Given the description of an element on the screen output the (x, y) to click on. 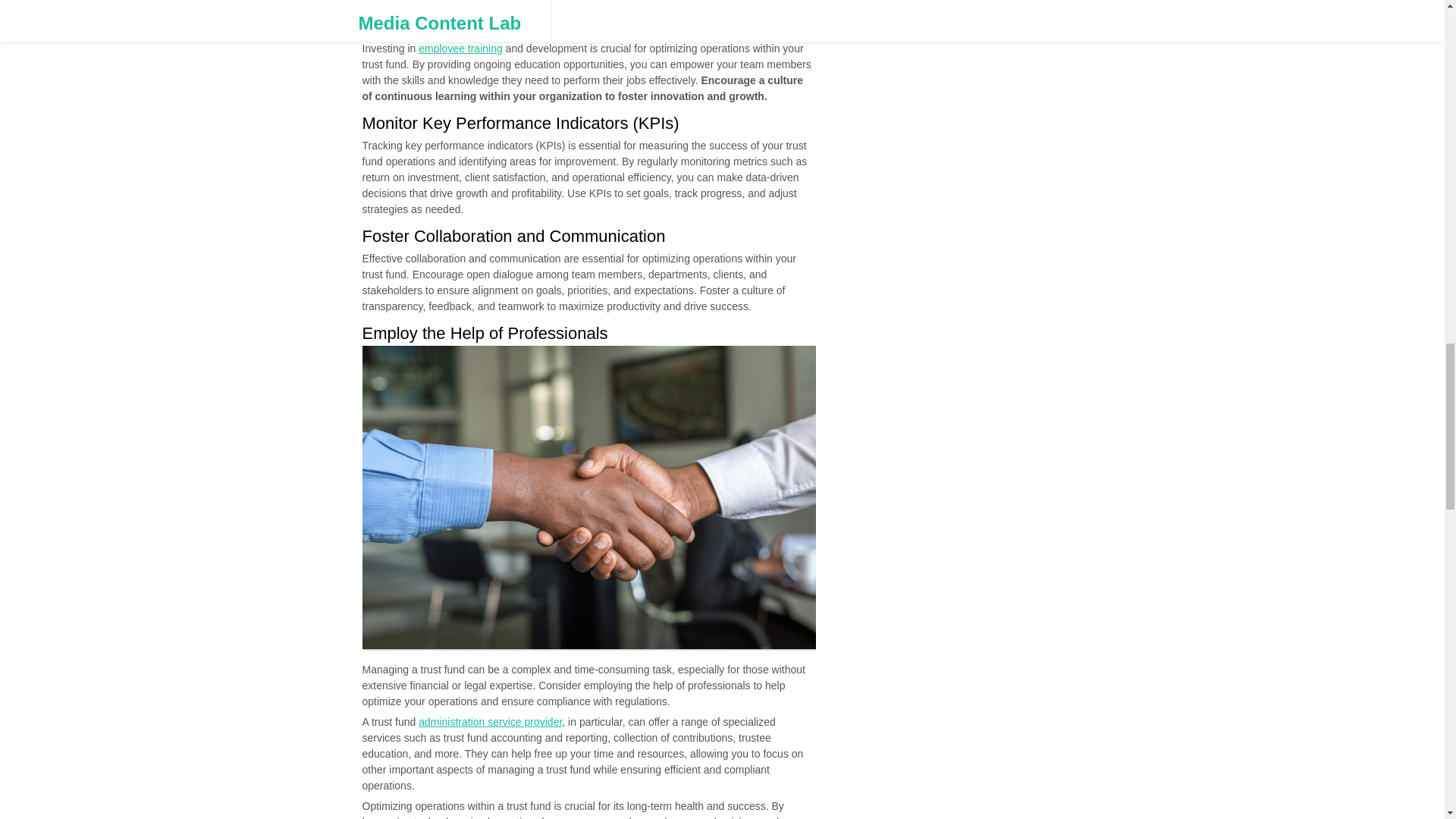
employee training (460, 48)
administration service provider (490, 721)
Employees (589, 13)
